Given the description of an element on the screen output the (x, y) to click on. 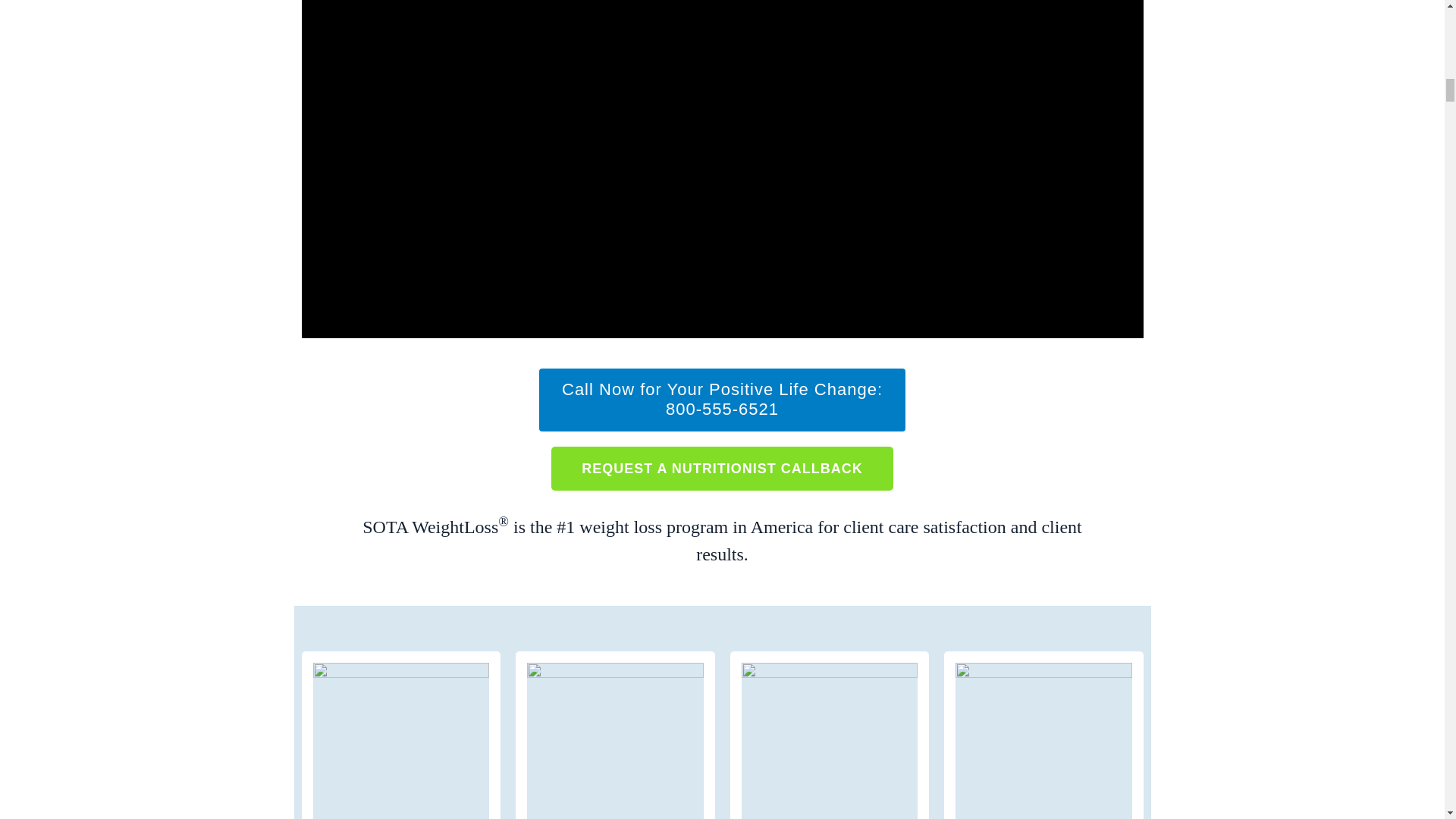
REQUEST A NUTRITIONIST CALLBACK (722, 467)
